Given the description of an element on the screen output the (x, y) to click on. 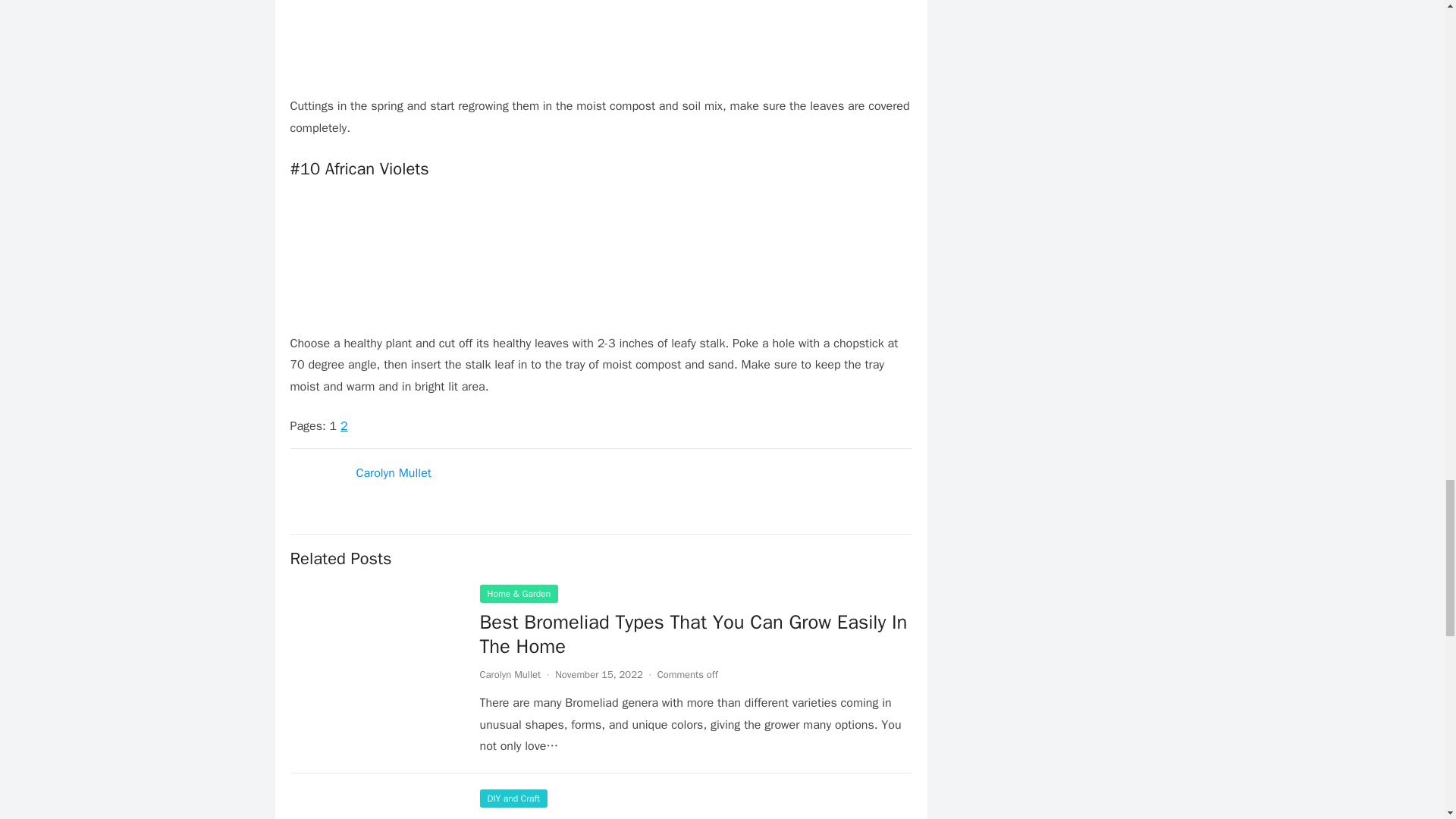
Best Bromeliad Types That You Can Grow Easily In The Home (693, 634)
Carolyn Mullet (509, 674)
Posts by Carolyn Mullet (509, 674)
DIY and Craft (513, 798)
Carolyn Mullet (393, 473)
Rustic Home Decor Projects With Old Doors (663, 816)
